Given the description of an element on the screen output the (x, y) to click on. 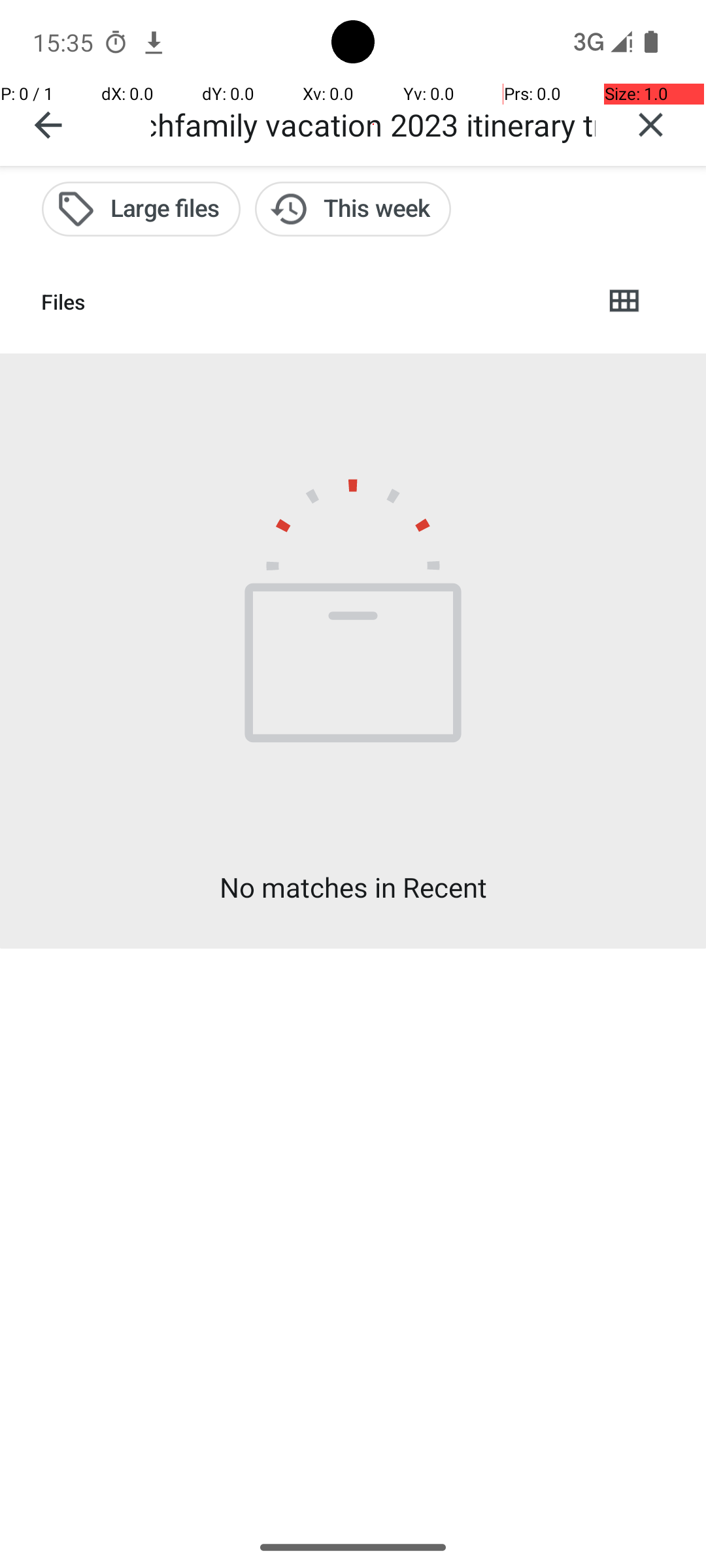
vacation photosbeachfamily gatheringfamily vacation 2023 beachfamily vacation 2023 itinerary trip memories summer 2023 trip memories 2023 Element type: android.widget.AutoCompleteTextView (373, 124)
